Given the description of an element on the screen output the (x, y) to click on. 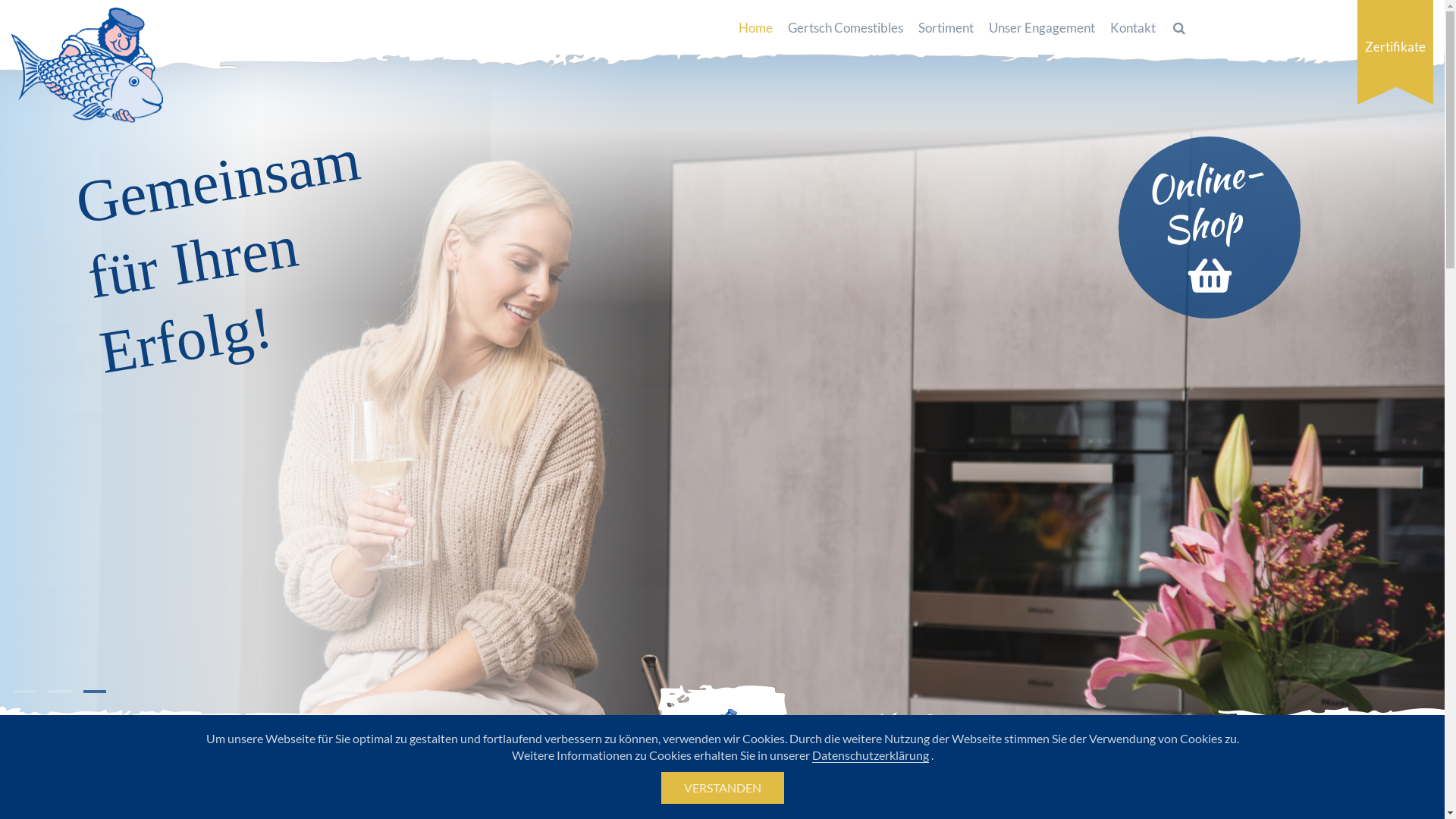
Unser Engagement Element type: text (1041, 28)
1 Element type: text (13, 697)
Sortiment Element type: text (945, 28)
Kontakt Element type: text (1132, 28)
Zertifikate Element type: hover (1395, 52)
3 Element type: text (83, 697)
Home Element type: text (755, 28)
2 Element type: text (48, 697)
mehr entdecken Element type: text (722, 751)
Zertifikate Element type: text (1395, 46)
VERSTANDEN Element type: text (722, 787)
Gertsch Comestibles Element type: text (845, 28)
